Given the description of an element on the screen output the (x, y) to click on. 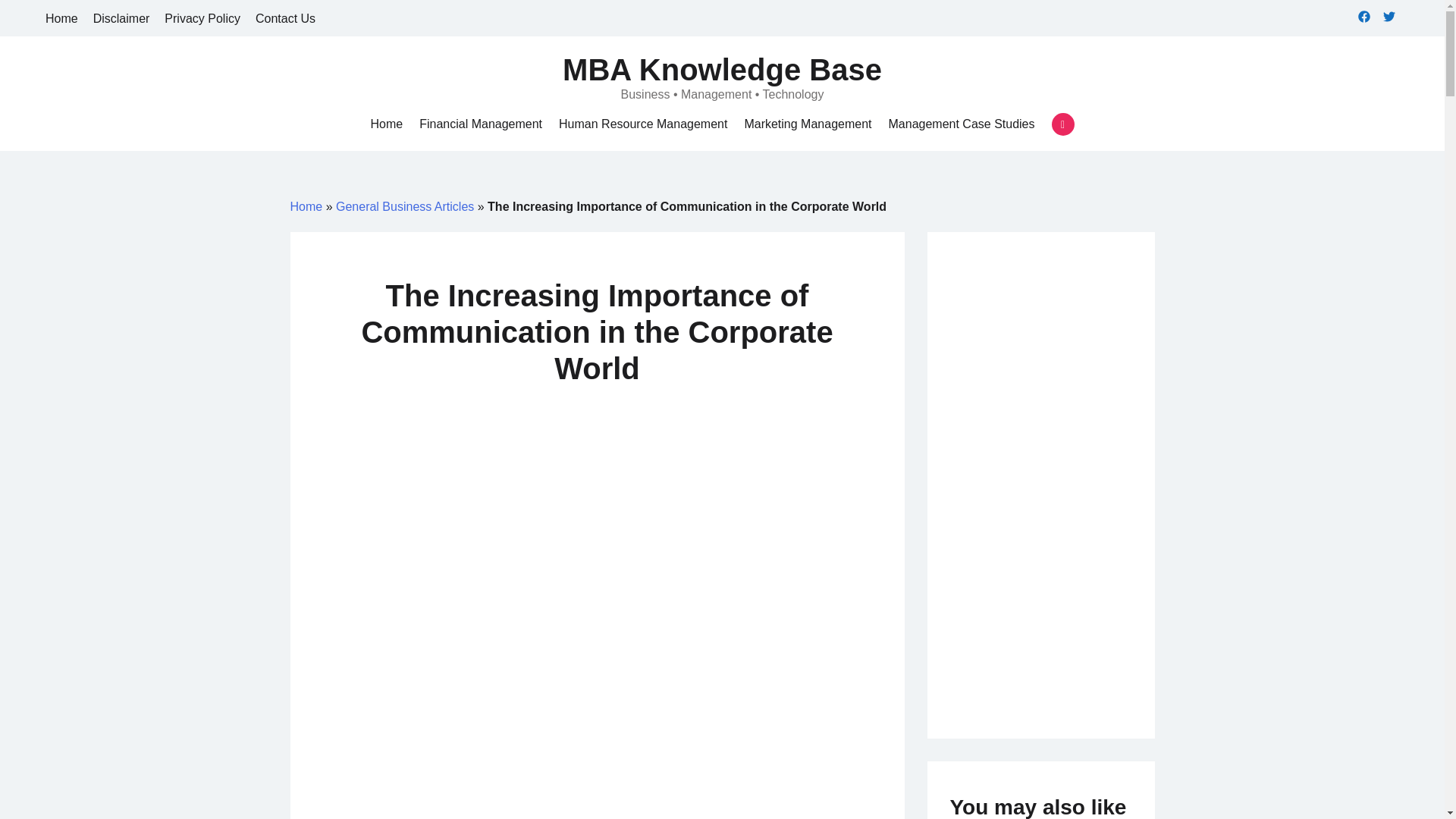
Home (305, 205)
Home (386, 123)
Management Case Studies (961, 123)
Home (386, 123)
General Business Articles (405, 205)
Marketing Management (807, 123)
Financial Management (480, 123)
Contact Us (285, 18)
Search (37, 16)
Human Resource Management (642, 123)
Home (61, 18)
MBA Knowledge Base (722, 69)
Privacy Policy (202, 18)
Disclaimer (121, 18)
